Given the description of an element on the screen output the (x, y) to click on. 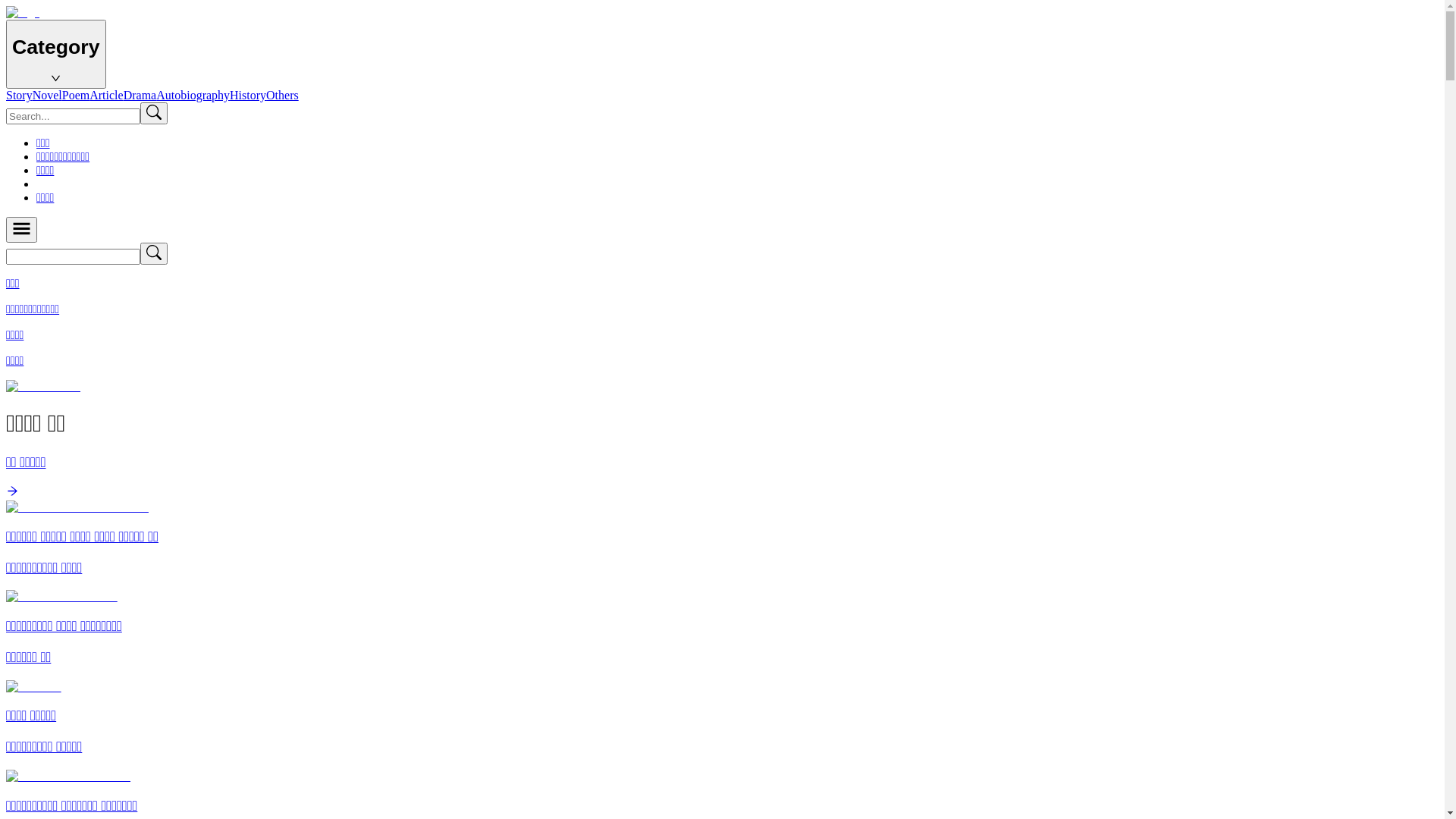
Poem Element type: text (75, 94)
Novel Element type: text (47, 94)
Drama Element type: text (139, 94)
Category Element type: text (56, 53)
Autobiography Element type: text (192, 94)
History Element type: text (247, 94)
Others Element type: text (282, 94)
Article Element type: text (105, 94)
Story Element type: text (19, 94)
